Given the description of an element on the screen output the (x, y) to click on. 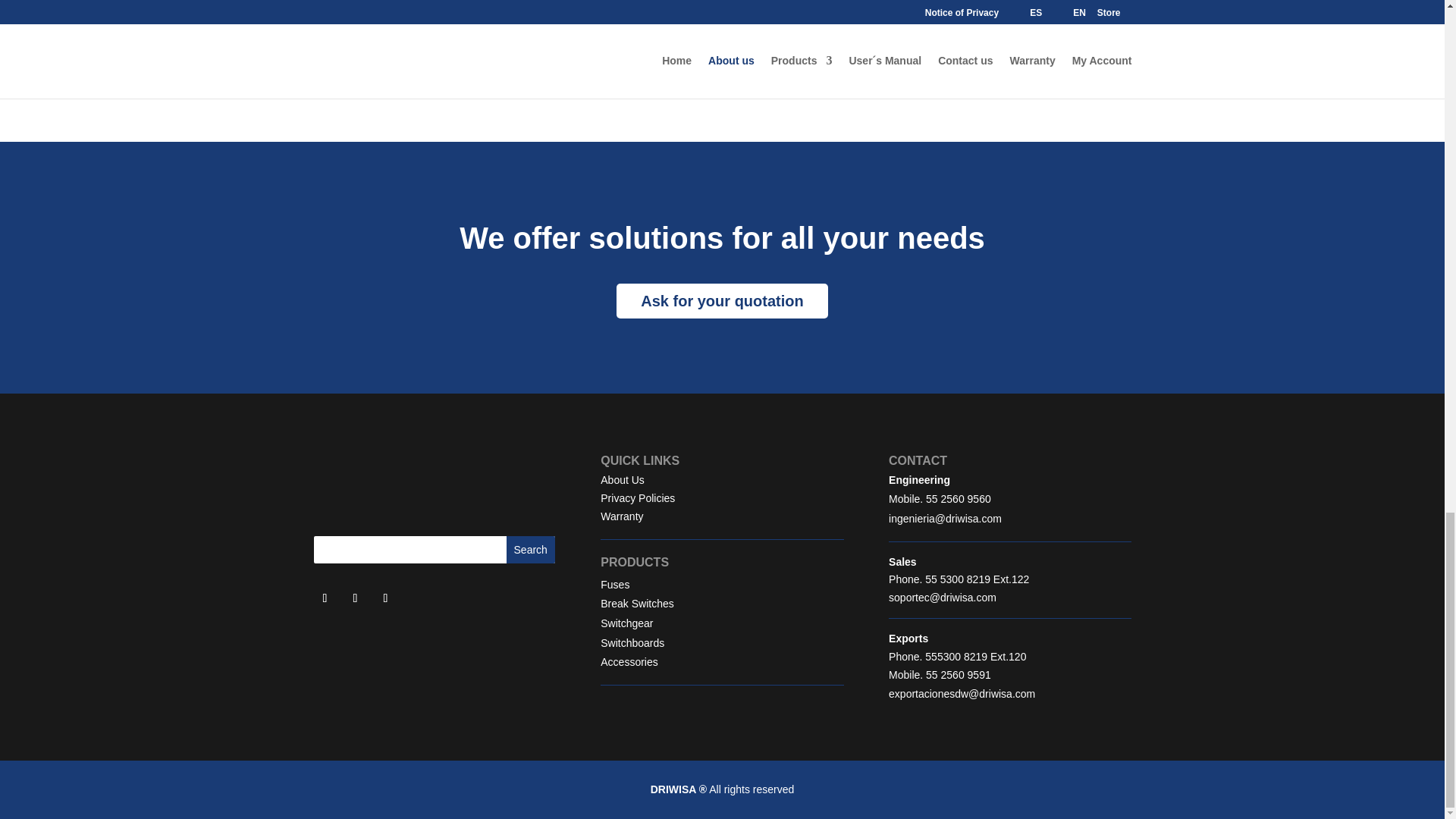
Search (530, 549)
logo3 (433, 483)
Follow on Instagram (354, 598)
Ask for your quotation (721, 300)
Search (530, 549)
Follow on Facebook (384, 598)
Search (530, 549)
Follow on LinkedIn (324, 598)
